Given the description of an element on the screen output the (x, y) to click on. 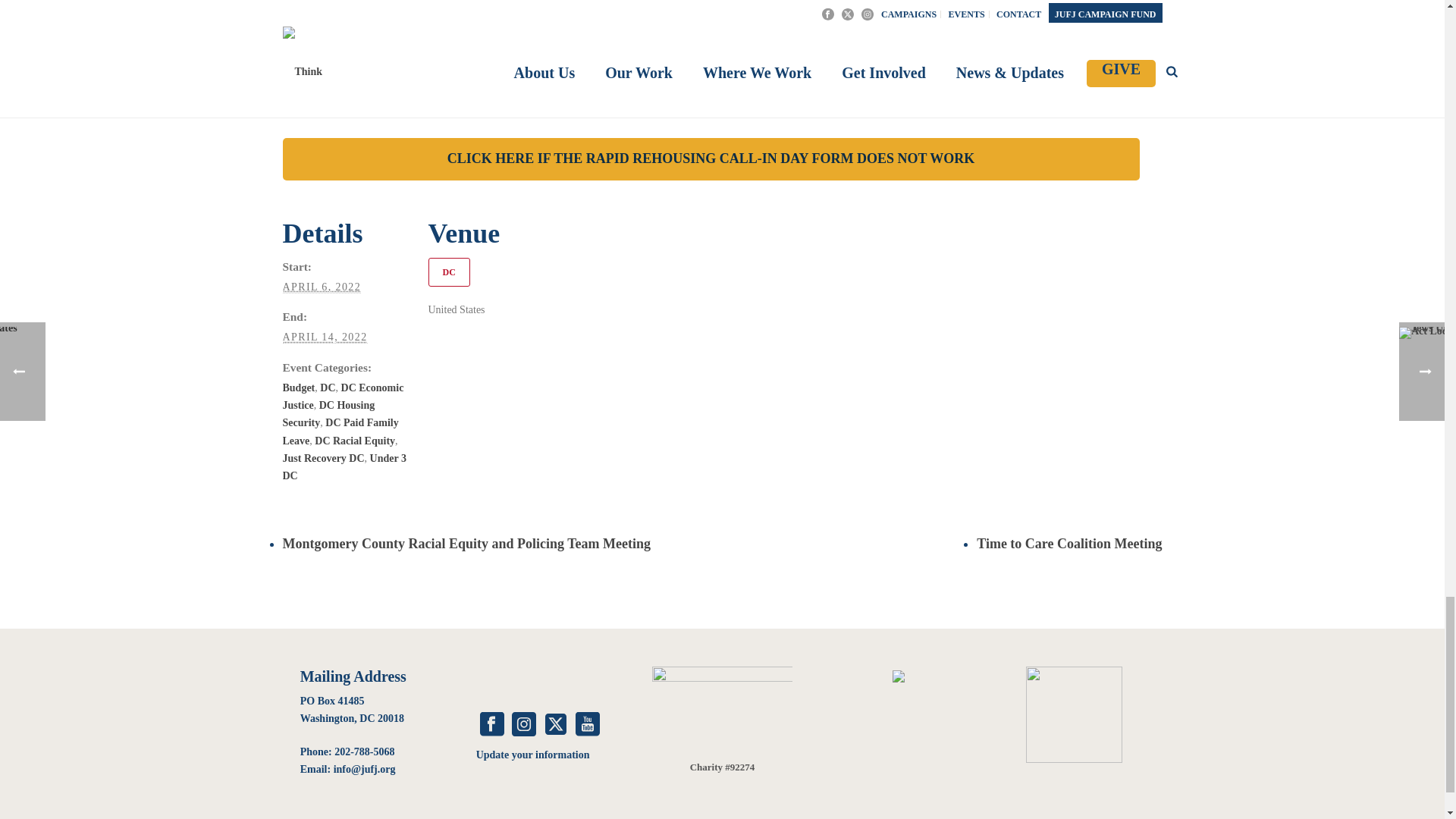
2022-04-14 (324, 337)
Social: twitter (555, 724)
Social: youtube (587, 724)
Social: instagram (523, 724)
2022-04-06 (321, 287)
Social: facebook (491, 724)
